Given the description of an element on the screen output the (x, y) to click on. 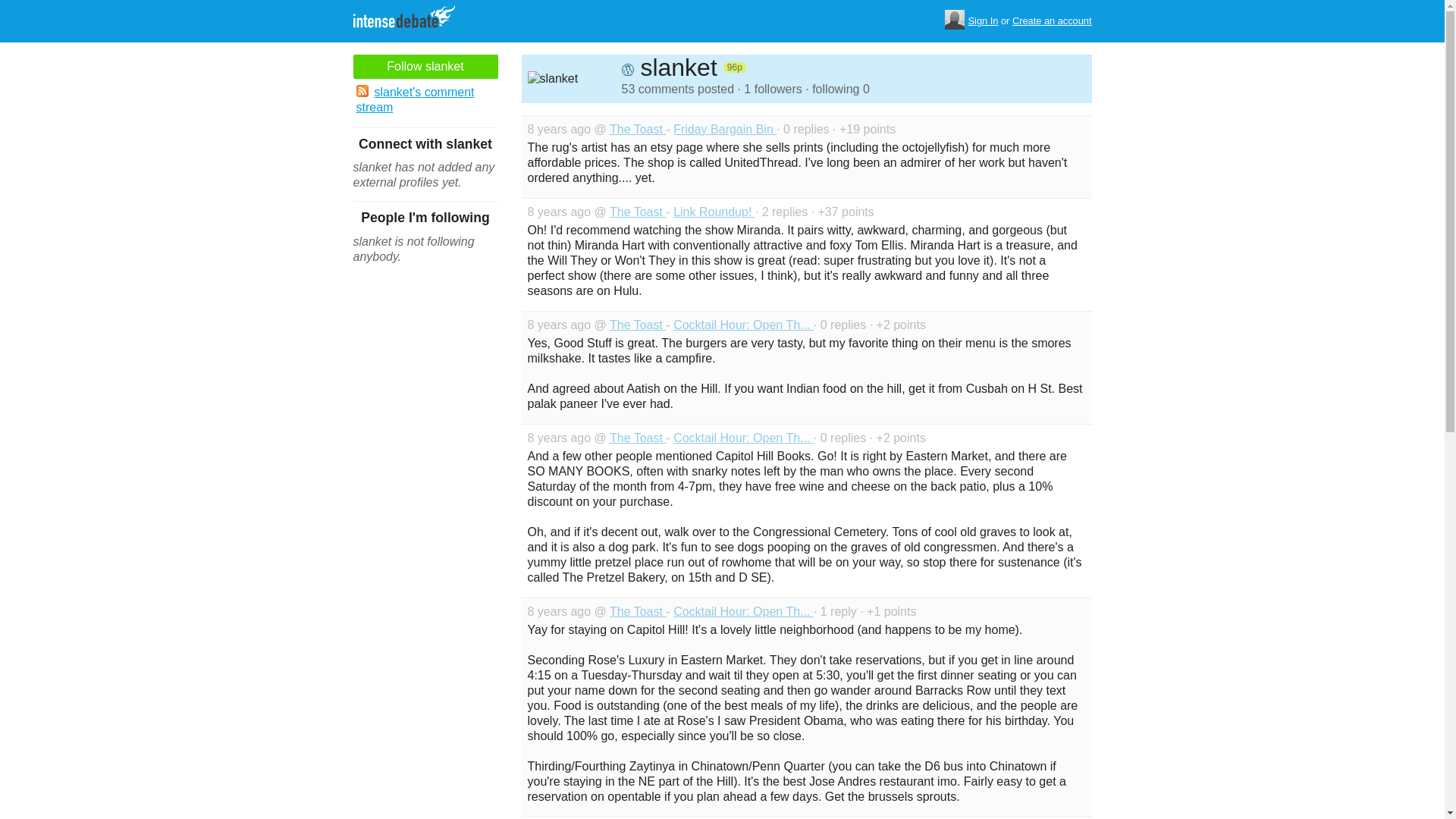
Follow slanket (425, 66)
Link Roundup! (713, 211)
slanket's comment stream (425, 99)
The Toast (637, 611)
The Toast (637, 211)
Cocktail Hour: Open Th... (742, 324)
The Toast (637, 128)
IntenseDebate Comment System (410, 18)
Create an account (1051, 21)
The Toast (637, 324)
Cocktail Hour: Open Th... (742, 611)
Sign In (983, 21)
The Toast (637, 437)
Cocktail Hour: Open Th... (742, 437)
